Given the description of an element on the screen output the (x, y) to click on. 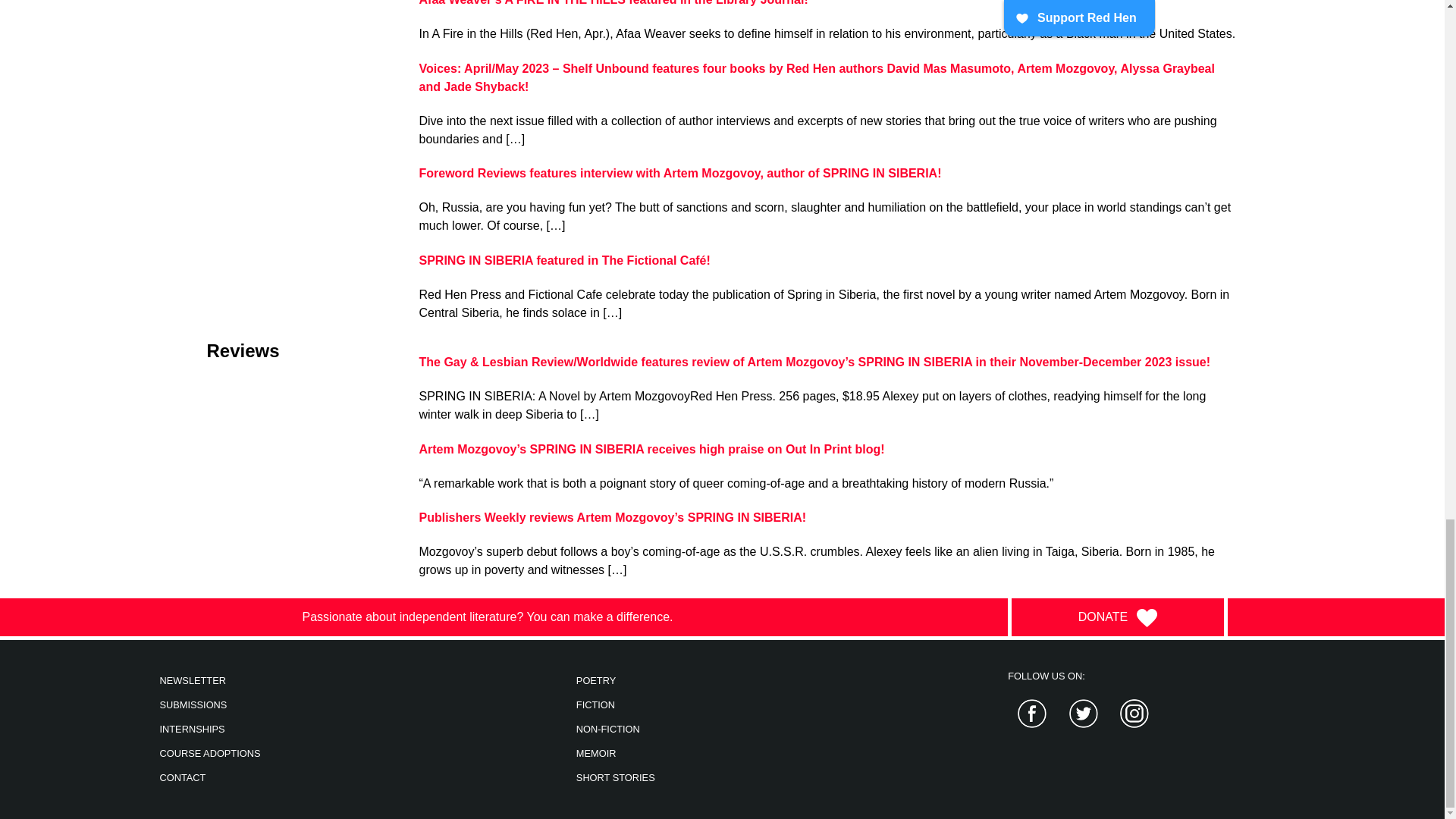
Permanent Link to Miriam Sagan (651, 449)
Permanent Link to Miriam Sagan (613, 2)
Permanent Link to Miriam Sagan (612, 517)
Permanent Link to Miriam Sagan (814, 361)
Permanent Link to Miriam Sagan (564, 259)
Permanent Link to Miriam Sagan (679, 173)
Permanent Link to Miriam Sagan (816, 77)
